Given the description of an element on the screen output the (x, y) to click on. 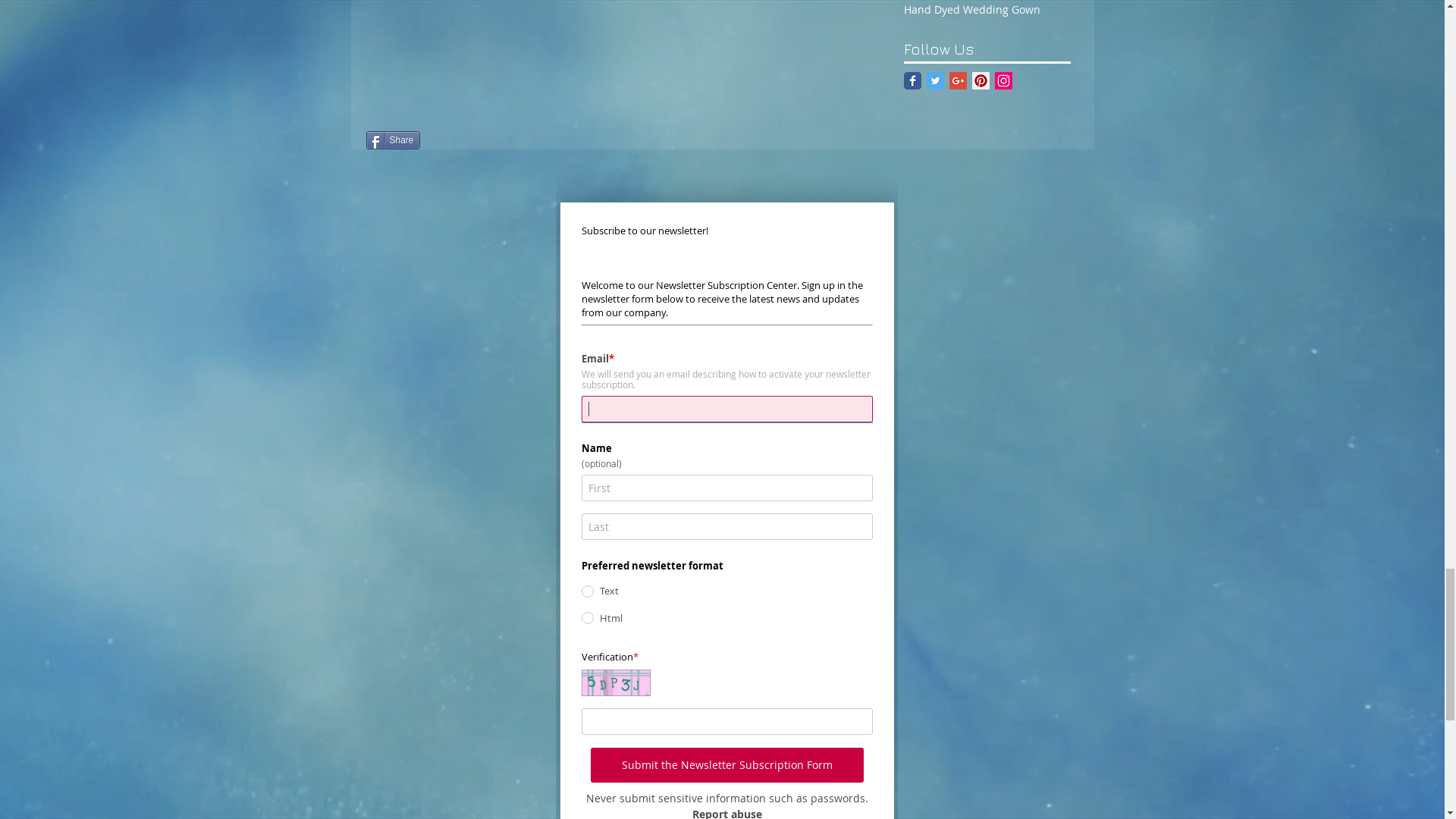
Soft Pastel Bridal Gowns Element type: text (1005, 724)
editorial Element type: text (508, 145)
Romantic Bridal Gowns Element type: text (741, 507)
Share Element type: text (930, 234)
Bridal Garters Element type: text (1005, 539)
Alison's Wedding Element type: text (820, 397)
Judy Medway bespoke bridal gown, couture dressmaking Element type: hover (737, 51)
services Element type: text (826, 145)
Shop Element type: text (440, 145)
Soft Pastel Bridal Gowns Element type: text (741, 713)
contact Element type: text (901, 145)
0 Element type: text (787, 108)
Pearl and Crystal Necklace Set Element type: text (1155, 406)
Site Search Element type: hover (996, 107)
Bridal Wraps Element type: text (652, 397)
Romantic Bridal Gowns Element type: text (1005, 620)
home Element type: text (380, 145)
blog Element type: text (964, 145)
couture Element type: text (583, 145)
French Ribbon Taffeta Gown Element type: text (1322, 406)
testimonials Element type: text (1041, 145)
Salmon Pink Fascinator Element type: text (987, 406)
Bridal Garters Element type: text (741, 301)
brides Element type: text (652, 145)
accessories Element type: text (736, 145)
